Given the description of an element on the screen output the (x, y) to click on. 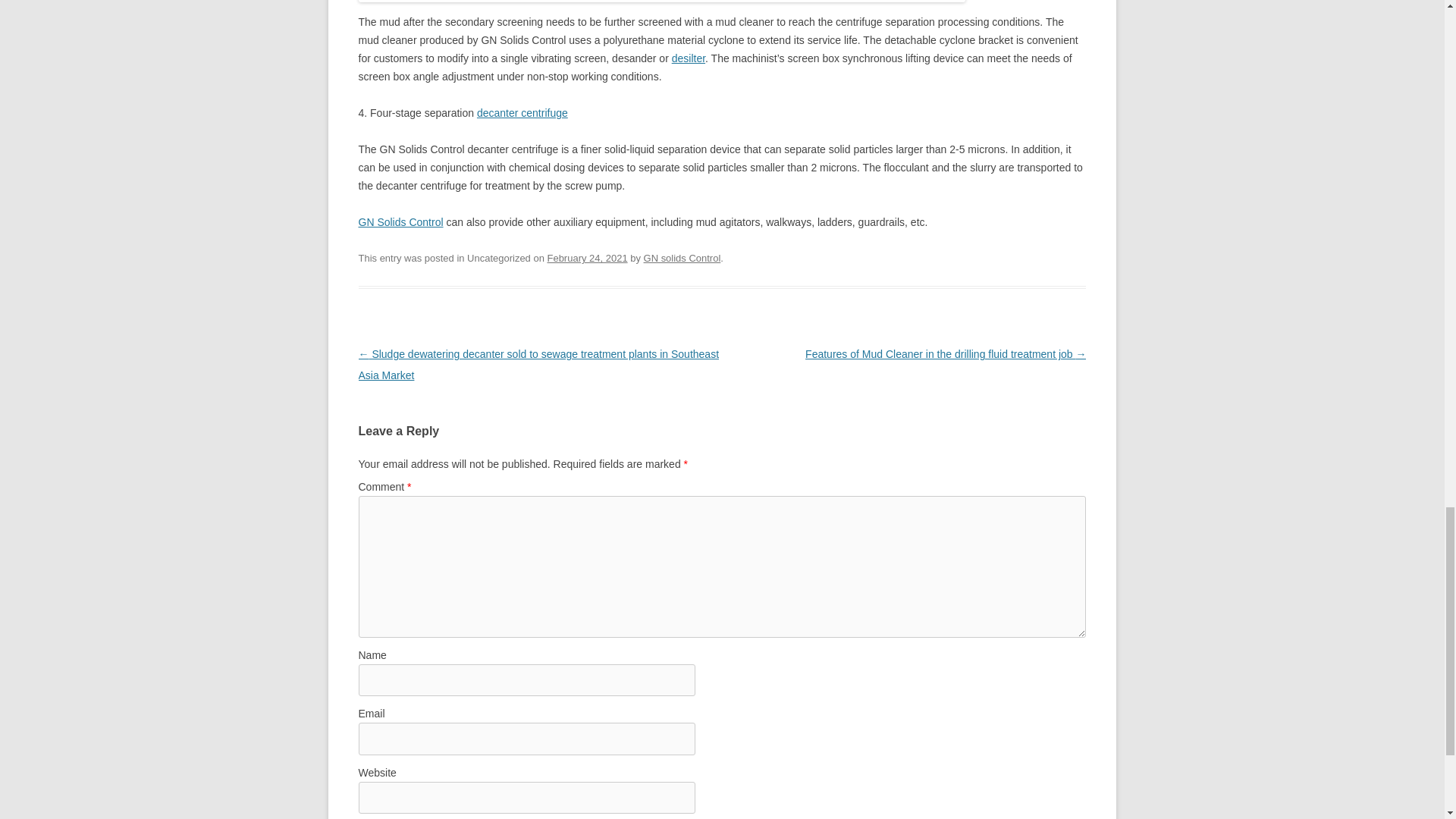
decanter centrifuge (522, 112)
GN solids Control (681, 257)
7:26 pm (587, 257)
View all posts by GN solids Control (681, 257)
GN Solids Control (400, 222)
desilter (687, 58)
February 24, 2021 (587, 257)
